Given the description of an element on the screen output the (x, y) to click on. 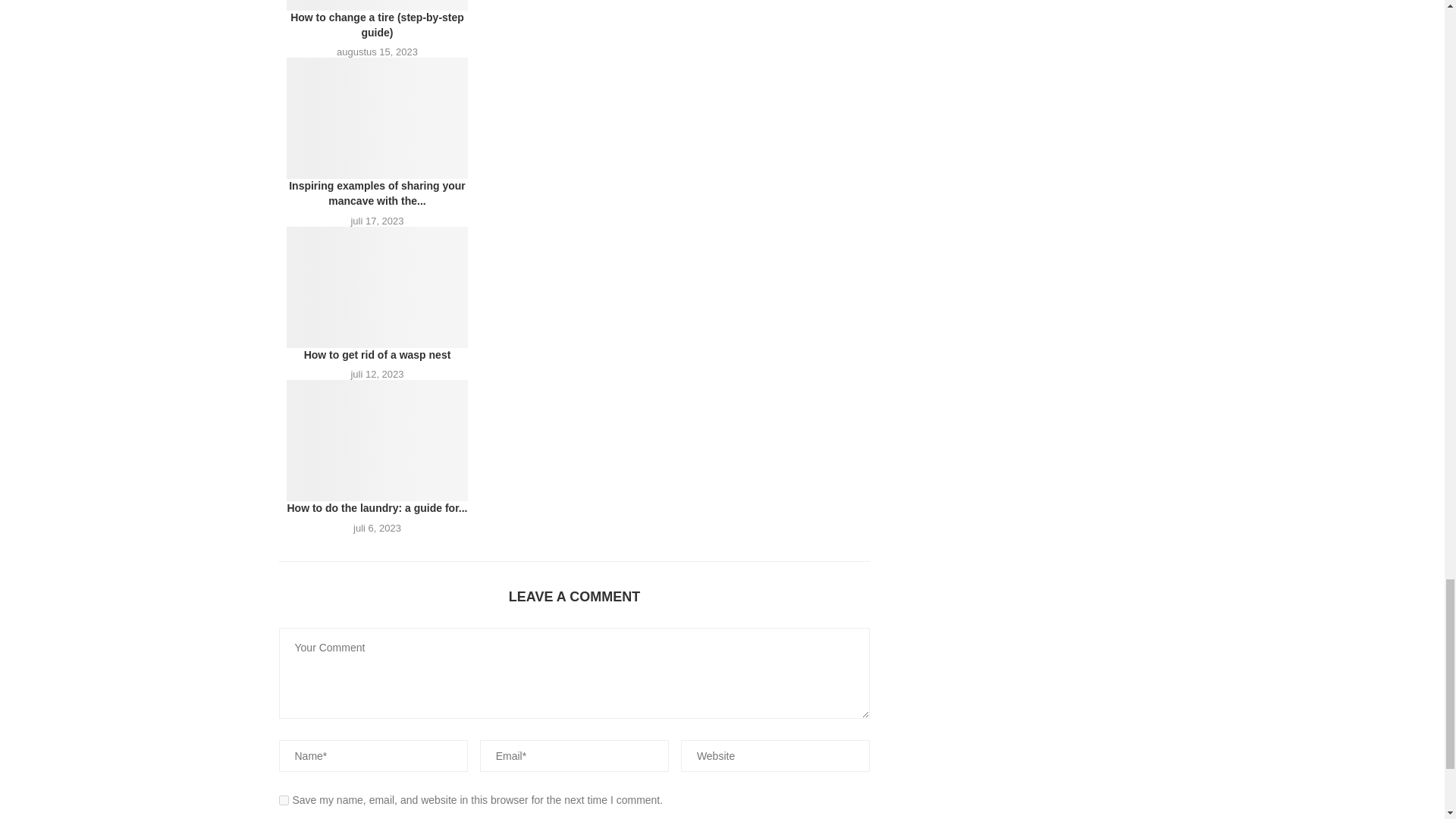
How to get rid of a wasp nest (377, 287)
Inspiring examples of sharing your mancave with the kids (377, 118)
How to do the laundry: a guide for dads (377, 440)
yes (283, 800)
